Given the description of an element on the screen output the (x, y) to click on. 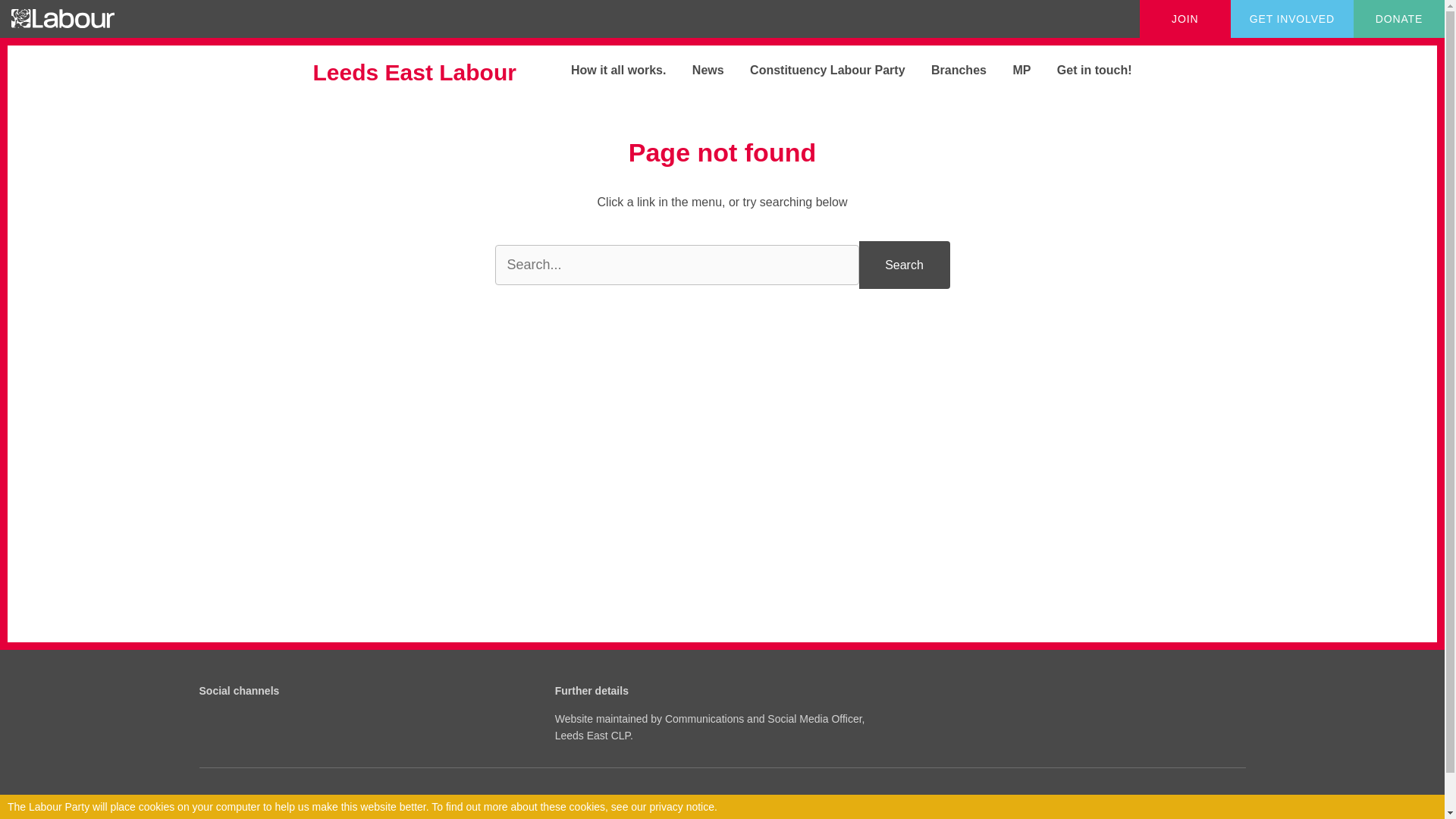
Get in touch! (1082, 69)
JOIN (1185, 18)
GET INVOLVED (1292, 18)
News (696, 69)
Leeds East Labour (426, 73)
MP (1010, 69)
Constituency Labour Party (815, 69)
How it all works. (606, 69)
Branches (947, 69)
